Given the description of an element on the screen output the (x, y) to click on. 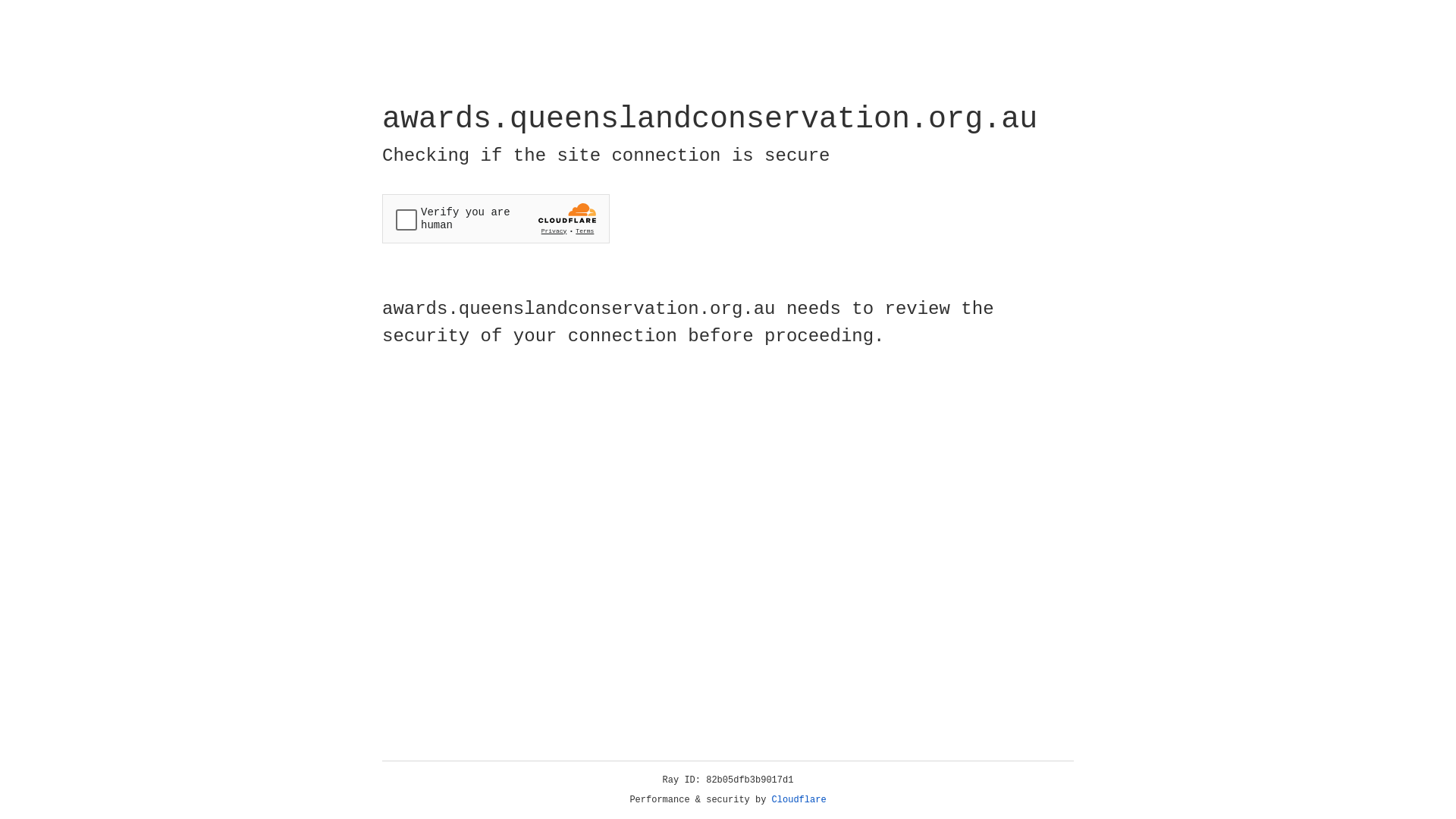
Widget containing a Cloudflare security challenge Element type: hover (495, 218)
Cloudflare Element type: text (798, 799)
